Given the description of an element on the screen output the (x, y) to click on. 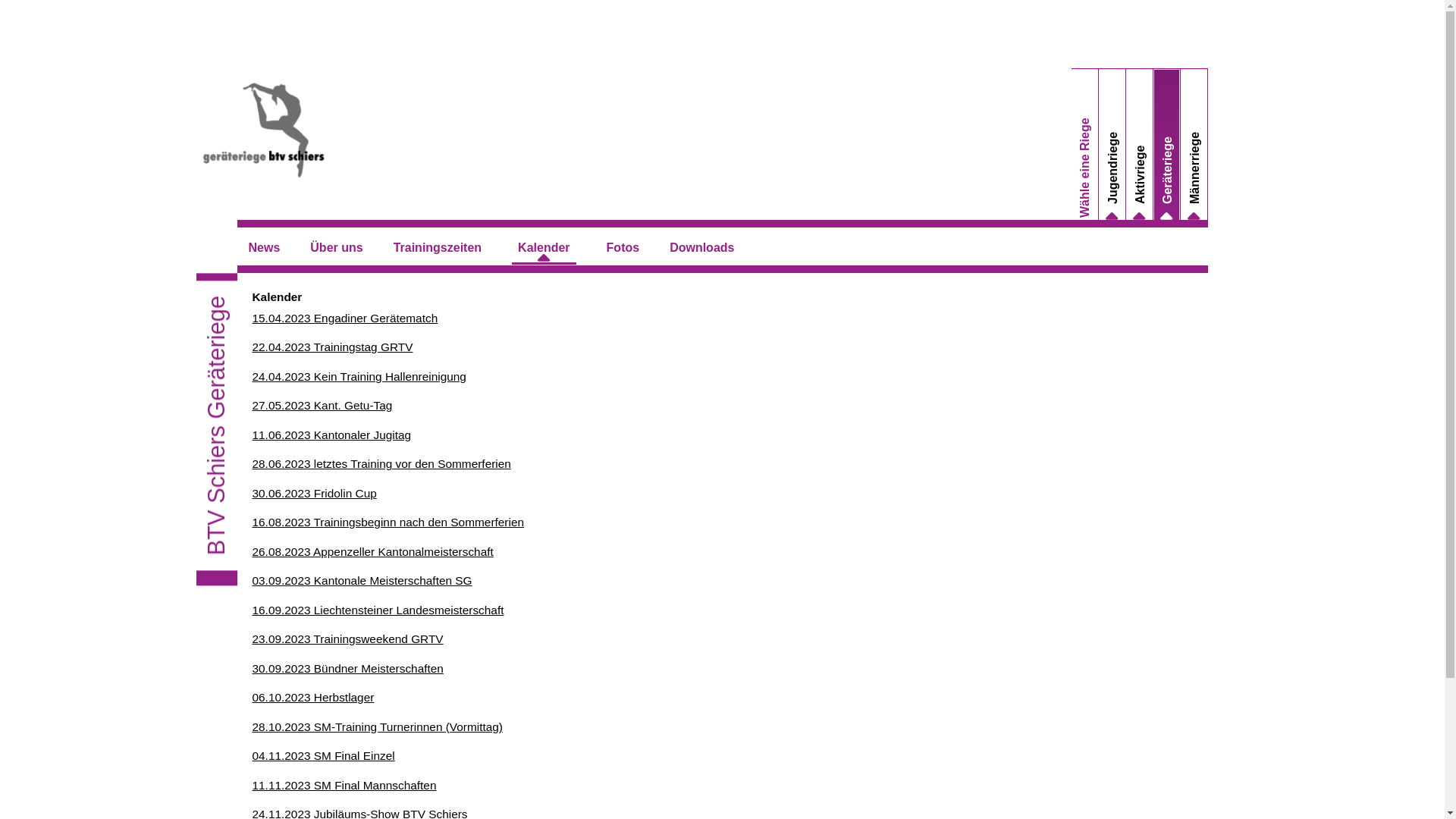
28.10.2023 SM-Training Turnerinnen (Vormittag) Element type: text (376, 726)
Downloads Element type: text (705, 250)
Trainingszeiten Element type: text (440, 250)
News Element type: text (268, 250)
22.04.2023 Trainingstag GRTV Element type: text (331, 346)
Kalender Element type: text (547, 250)
26.08.2023 Appenzeller Kantonalmeisterschaft Element type: text (371, 551)
Aktivriege Element type: text (1170, 151)
27.05.2023 Kant. Getu-Tag Element type: text (321, 404)
06.10.2023 Herbstlager Element type: text (312, 696)
16.08.2023 Trainingsbeginn nach den Sommerferien Element type: text (387, 521)
Jugendriege Element type: text (1150, 137)
11.11.2023 SM Final Mannschaften Element type: text (343, 784)
Fotos Element type: text (627, 250)
23.09.2023 Trainingsweekend GRTV Element type: text (346, 638)
11.06.2023 Kantonaler Jugitag Element type: text (331, 434)
30.06.2023 Fridolin Cup Element type: text (313, 492)
28.06.2023 letztes Training vor den Sommerferien Element type: text (380, 463)
16.09.2023 Liechtensteiner Landesmeisterschaft Element type: text (377, 609)
04.11.2023 SM Final Einzel Element type: text (322, 755)
24.04.2023 Kein Training Hallenreinigung Element type: text (358, 376)
03.09.2023 Kantonale Meisterschaften SG Element type: text (361, 580)
